Given the description of an element on the screen output the (x, y) to click on. 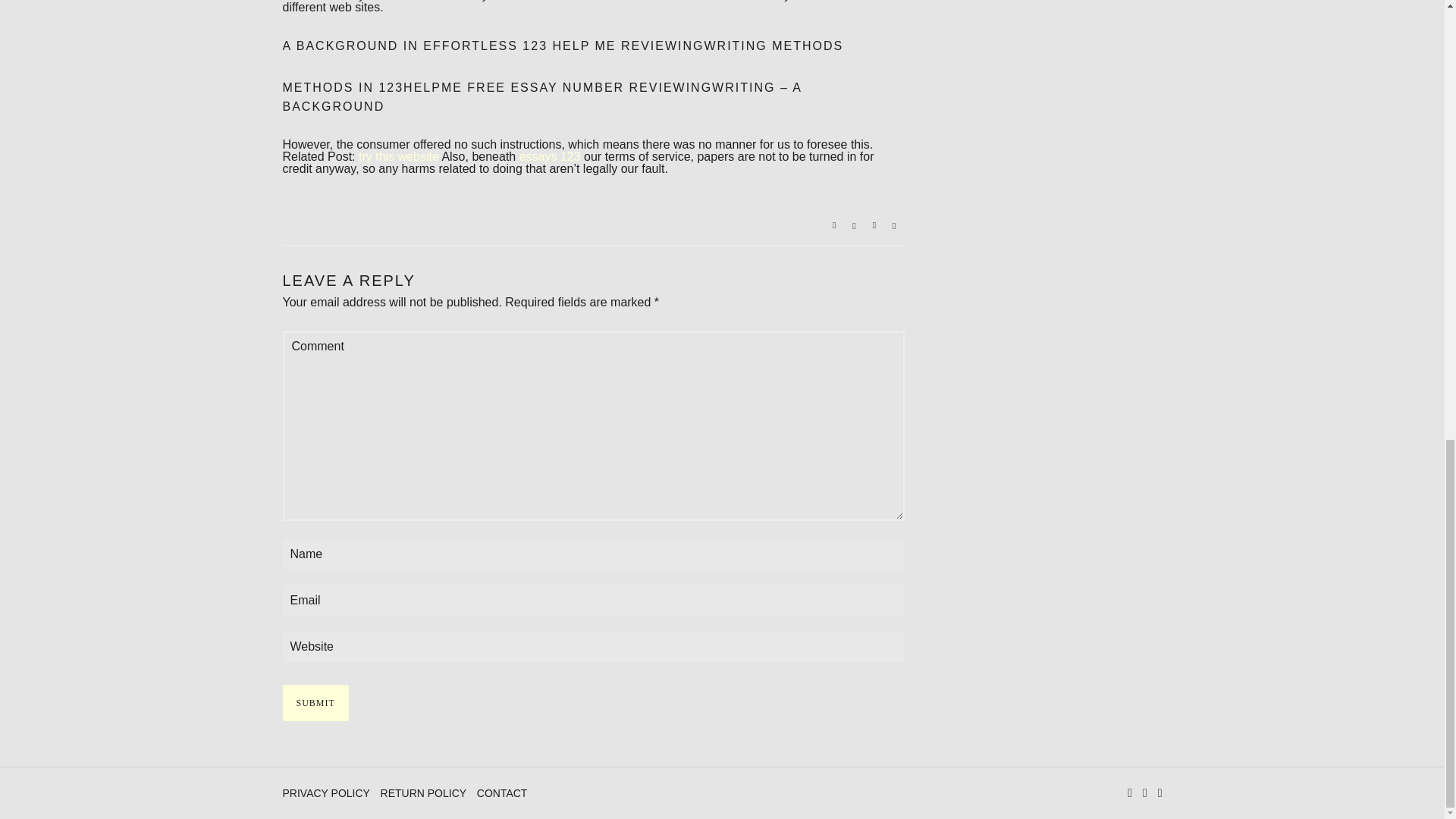
CONTACT (502, 793)
essays 123 (549, 155)
Submit (314, 702)
Submit (314, 702)
PRIVACY POLICY (327, 793)
try this website (398, 155)
RETURN POLICY (424, 793)
